Given the description of an element on the screen output the (x, y) to click on. 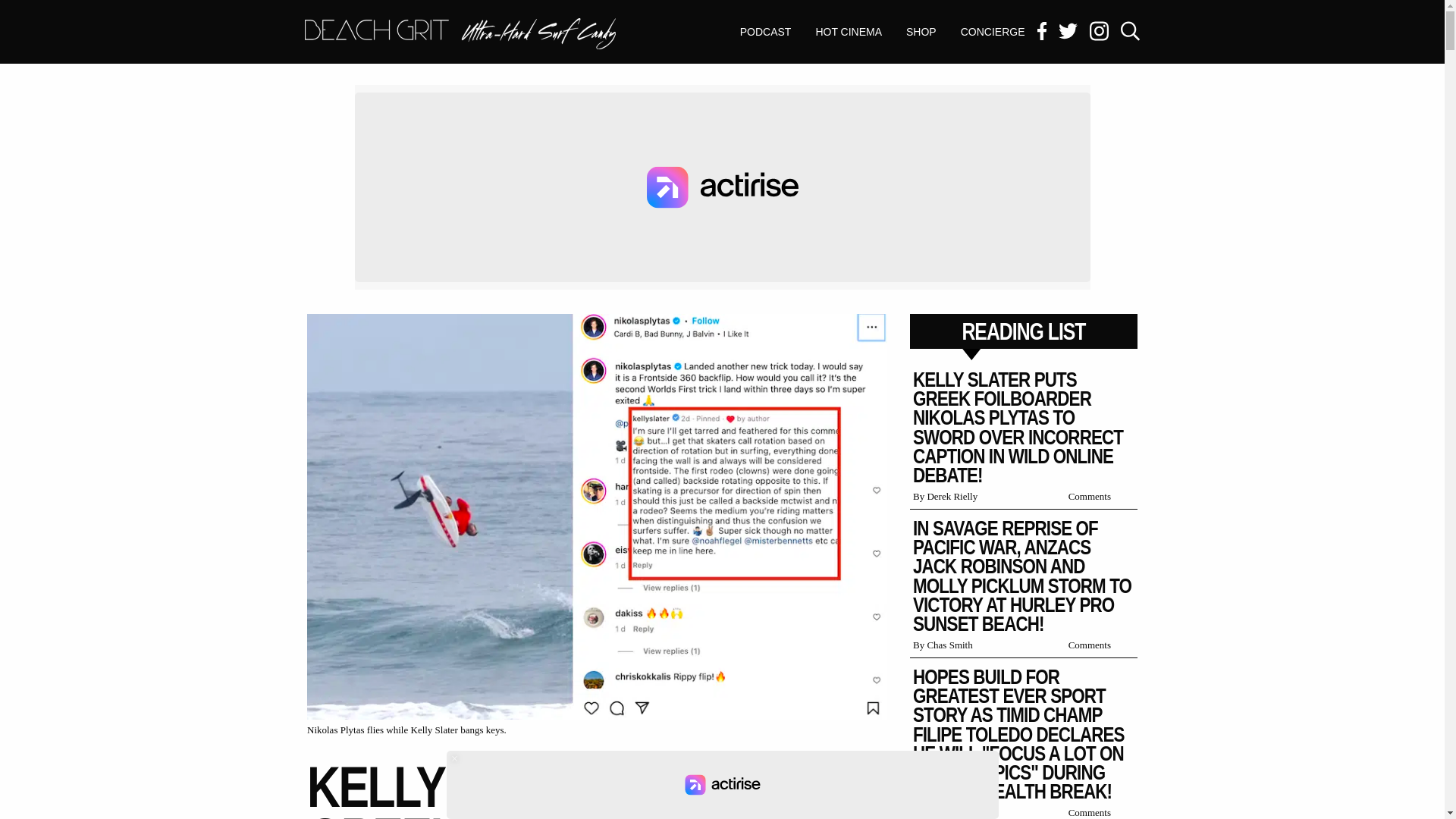
blank (721, 785)
BG-LOGO (459, 33)
HOT CINEMA (459, 34)
PODCAST (848, 31)
SHOP (765, 31)
CONCIERGE (921, 31)
